Given the description of an element on the screen output the (x, y) to click on. 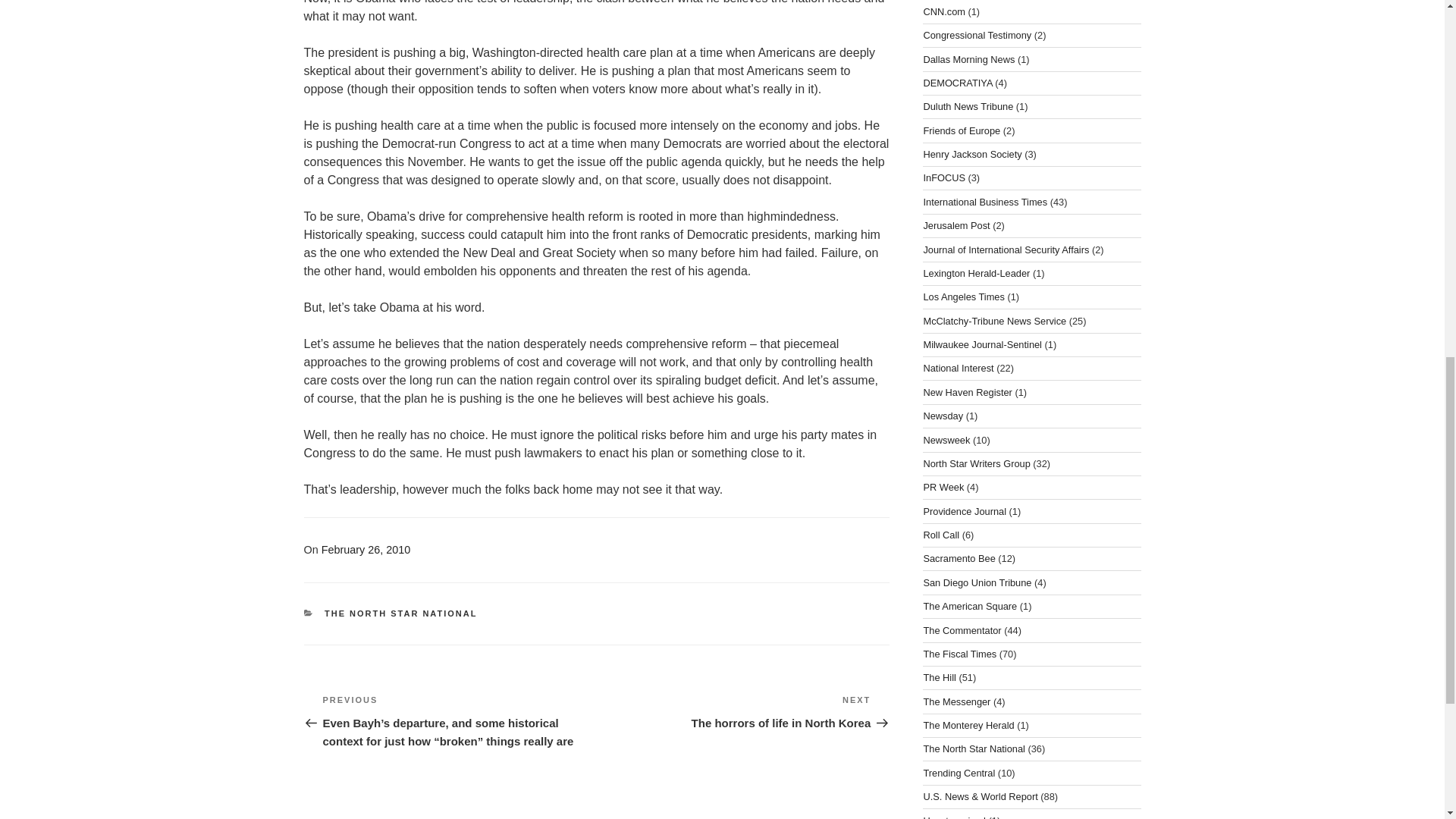
International Business Times (984, 202)
New Haven Register (967, 392)
Duluth News Tribune (968, 106)
Friends of Europe (961, 130)
Lexington Herald-Leader (976, 273)
Congressional Testimony (976, 34)
McClatchy-Tribune News Service (994, 320)
Jerusalem Post (956, 225)
National Interest (733, 711)
CNN.com (957, 367)
Newsday (943, 11)
Henry Jackson Society (942, 415)
Dallas Morning News (972, 153)
THE NORTH STAR NATIONAL (968, 59)
